Given the description of an element on the screen output the (x, y) to click on. 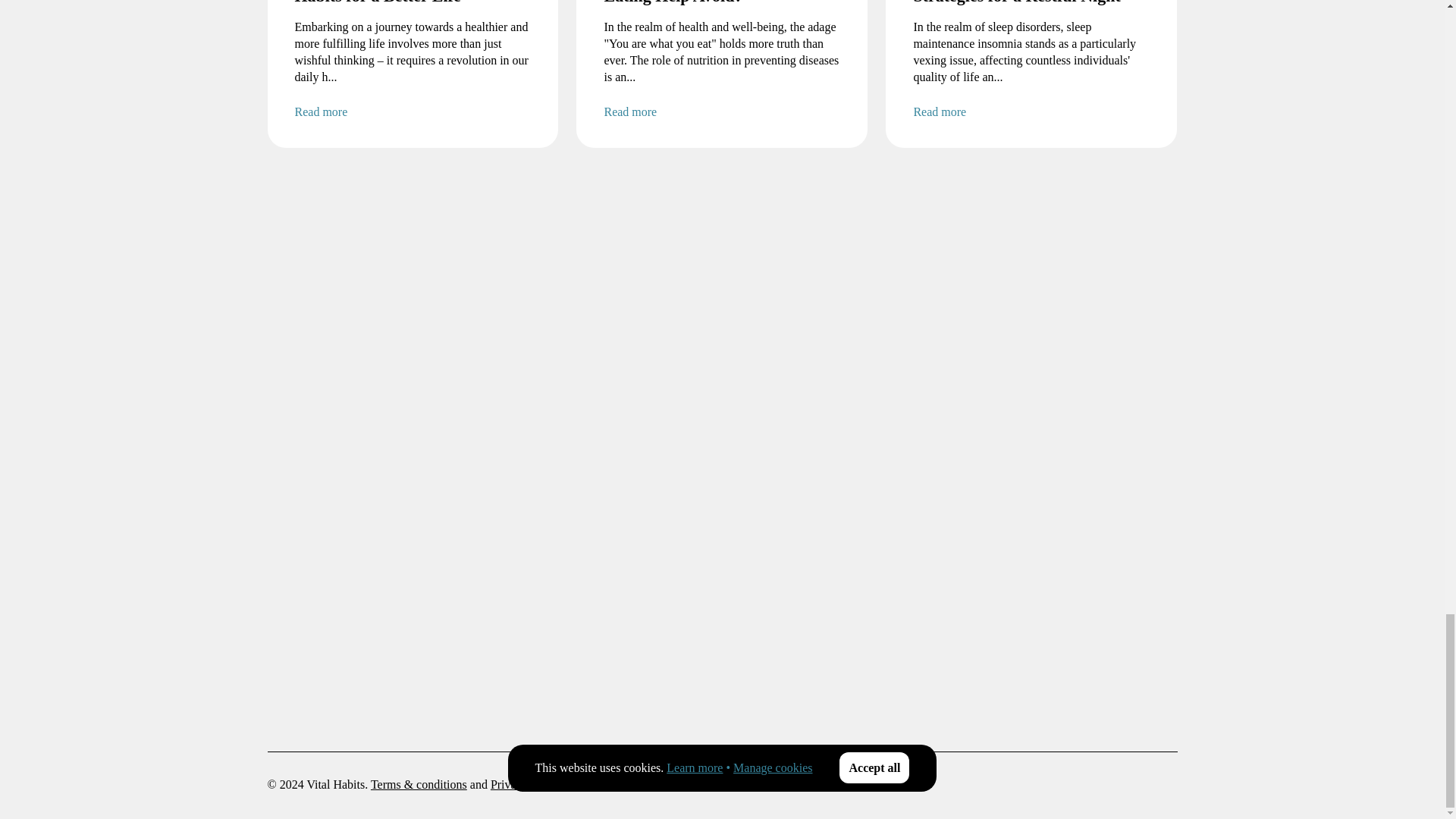
Read more (412, 112)
Lifestyle Revolution: 10 Good Habits for a Better Life (412, 3)
